Given the description of an element on the screen output the (x, y) to click on. 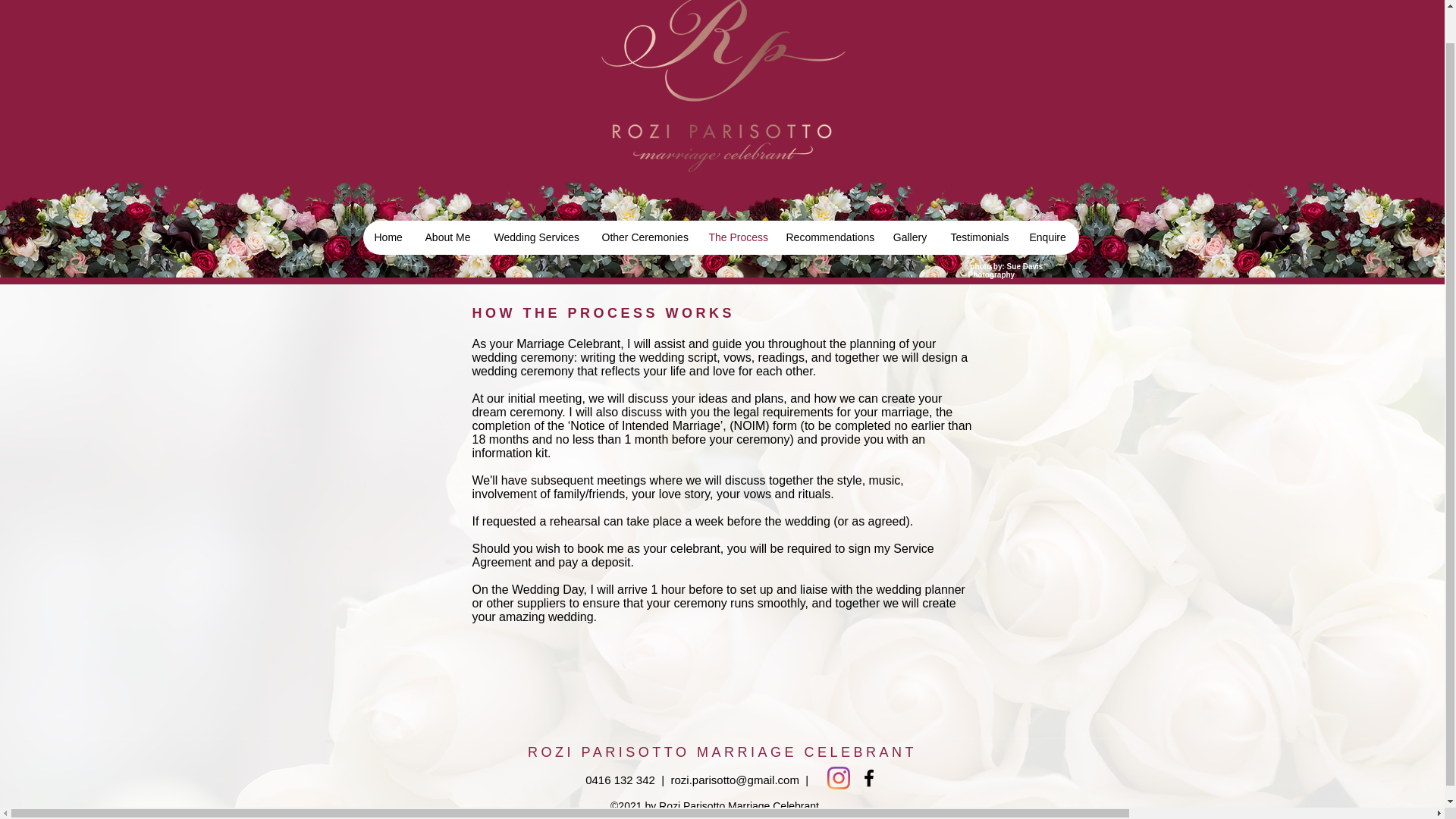
Recommendations (826, 237)
Wedding Services (535, 237)
About Me (446, 237)
Home (387, 237)
Gallery (909, 237)
Other Ceremonies (643, 237)
Testimonials (978, 237)
Enquire (1046, 237)
The Process (734, 237)
